Given the description of an element on the screen output the (x, y) to click on. 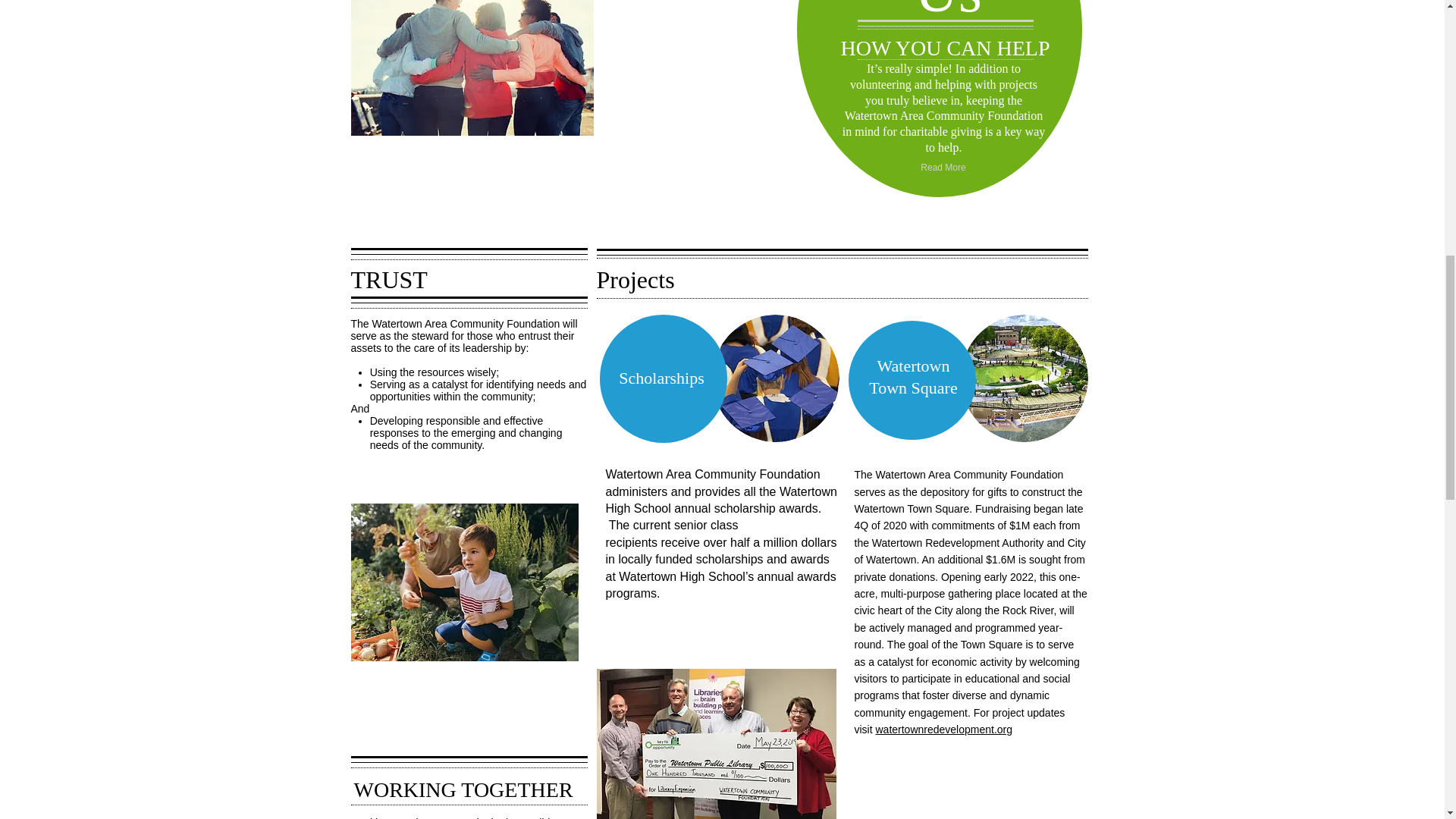
watertownredevelopment.org (943, 729)
Read More (942, 168)
